Given the description of an element on the screen output the (x, y) to click on. 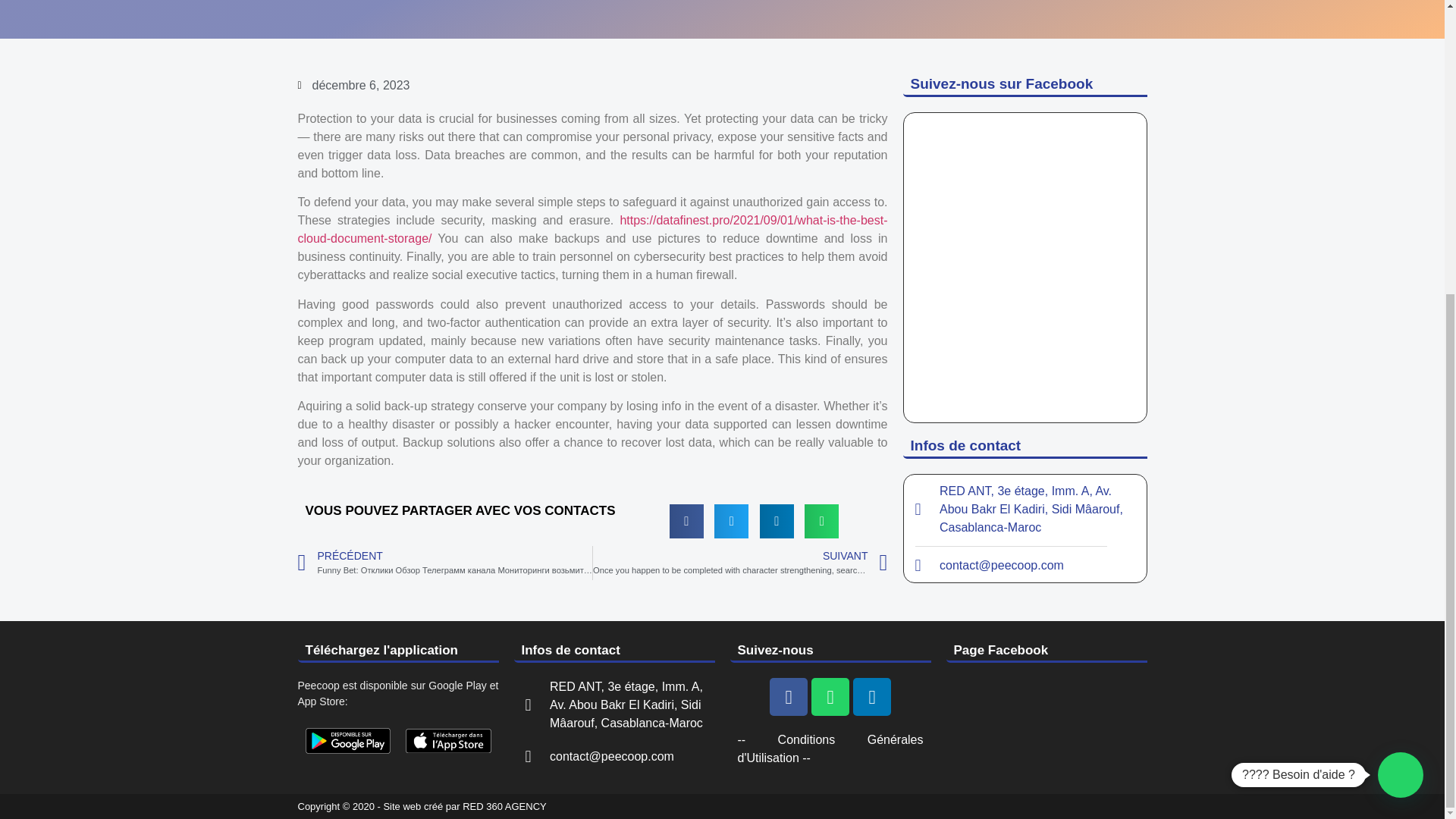
Peecoop (347, 740)
Peecoop (449, 740)
